Given the description of an element on the screen output the (x, y) to click on. 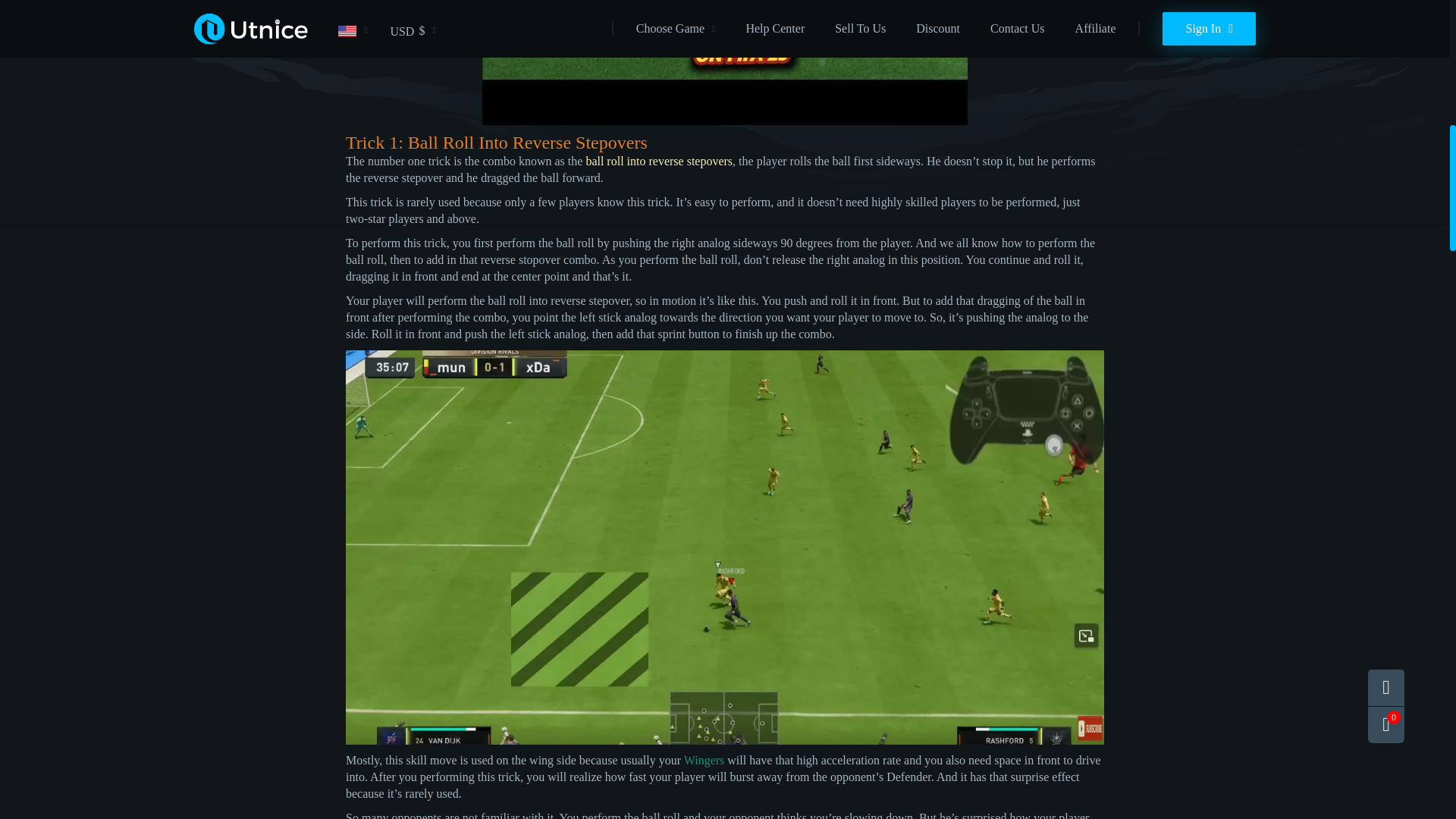
FIFA 23 Three Tricks To Increase Your Attacking Speed (724, 62)
